Given the description of an element on the screen output the (x, y) to click on. 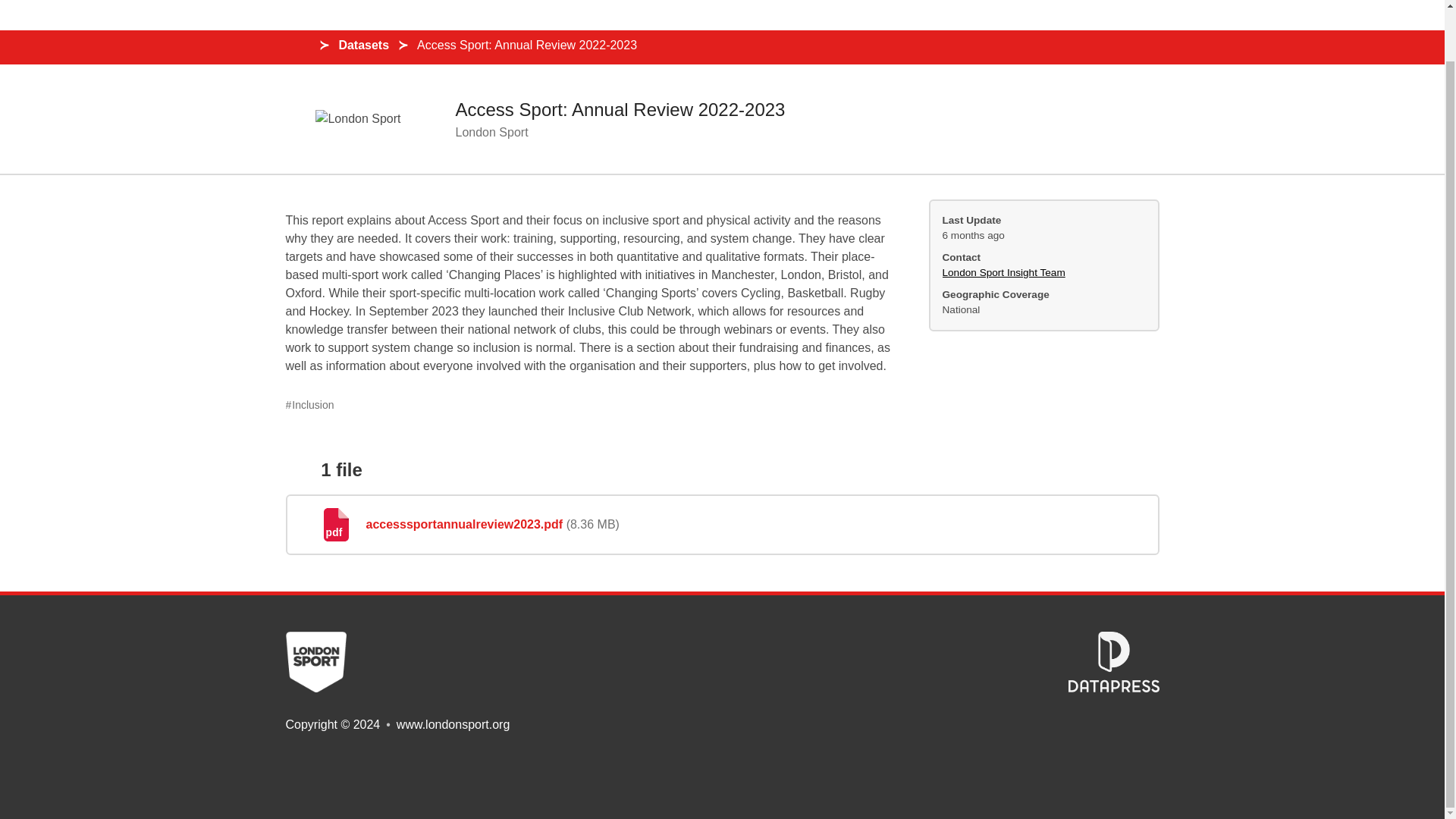
LOGIN (1085, 15)
SEARCH (941, 15)
London Sport (490, 132)
www.londonsport.org (452, 724)
London Sport Insight Team (1003, 272)
MORE (1010, 15)
CHARTS (801, 15)
Access Sport: Annual Review 2022-2023 (619, 109)
Datasets (363, 45)
Access Sport: Annual Review 2022-2023 (526, 45)
